Given the description of an element on the screen output the (x, y) to click on. 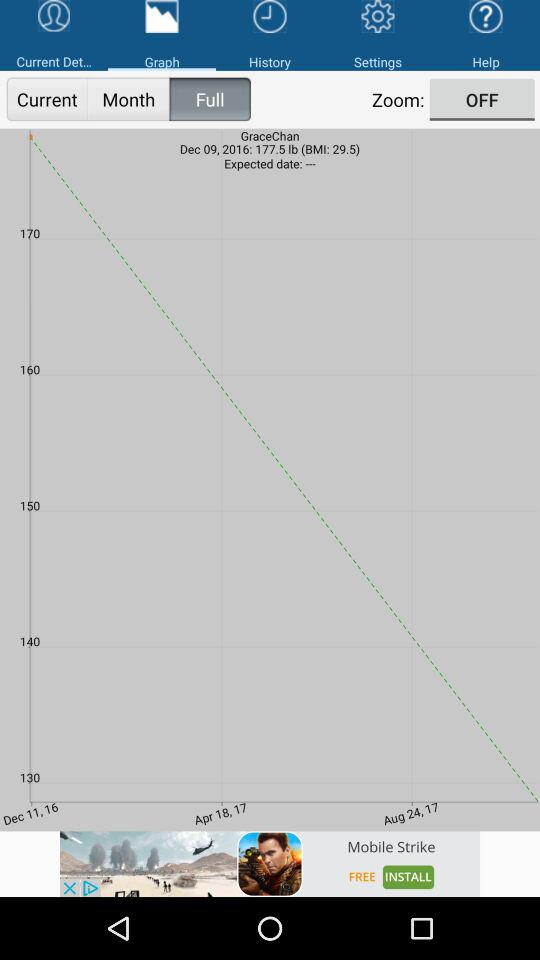
open advertisement (270, 864)
